Given the description of an element on the screen output the (x, y) to click on. 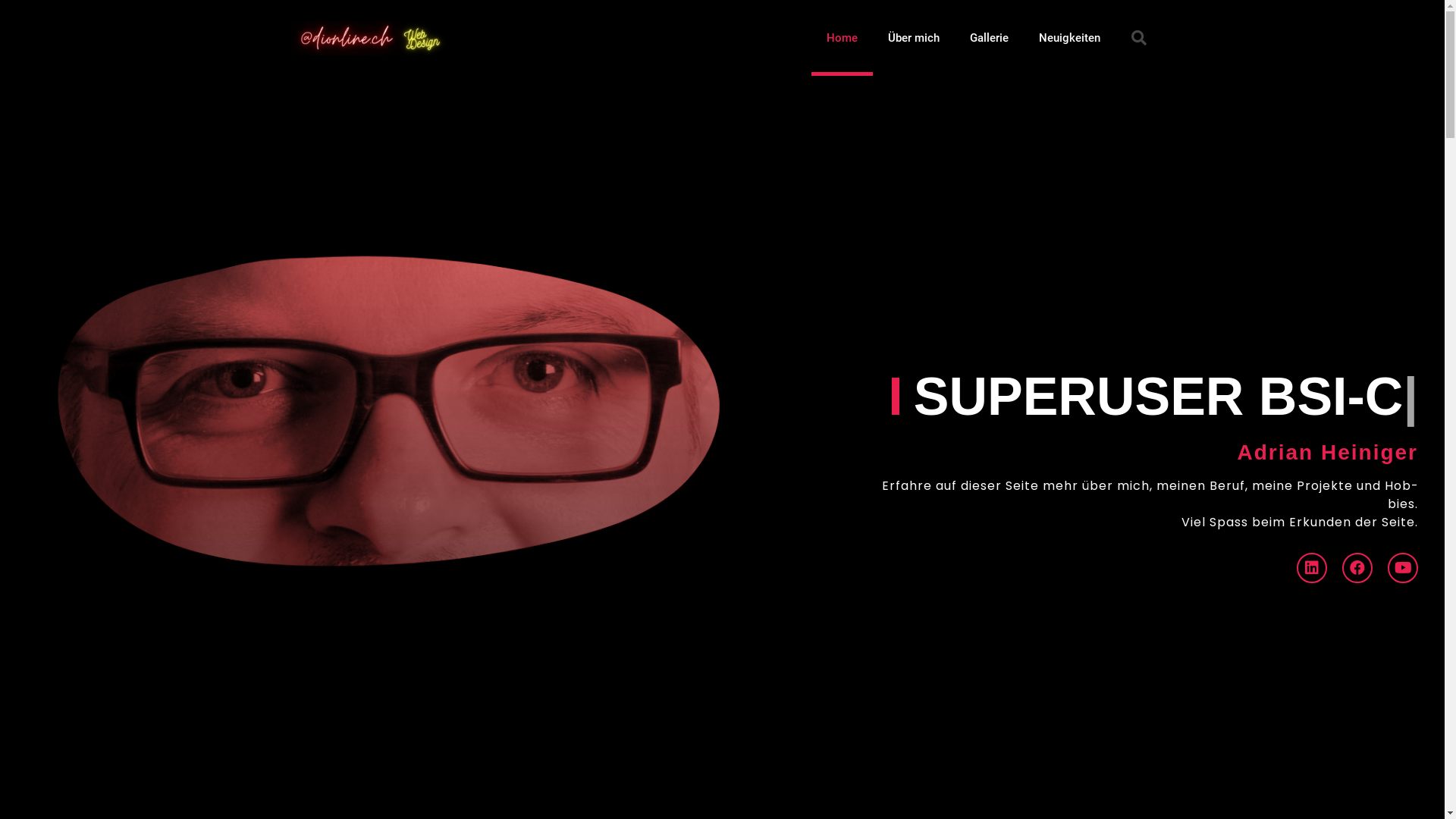
Youtube Element type: text (1402, 567)
Gallerie Element type: text (987, 37)
Linkedin Element type: text (1311, 567)
Neuigkeiten Element type: text (1069, 37)
Home Element type: text (841, 37)
